Given the description of an element on the screen output the (x, y) to click on. 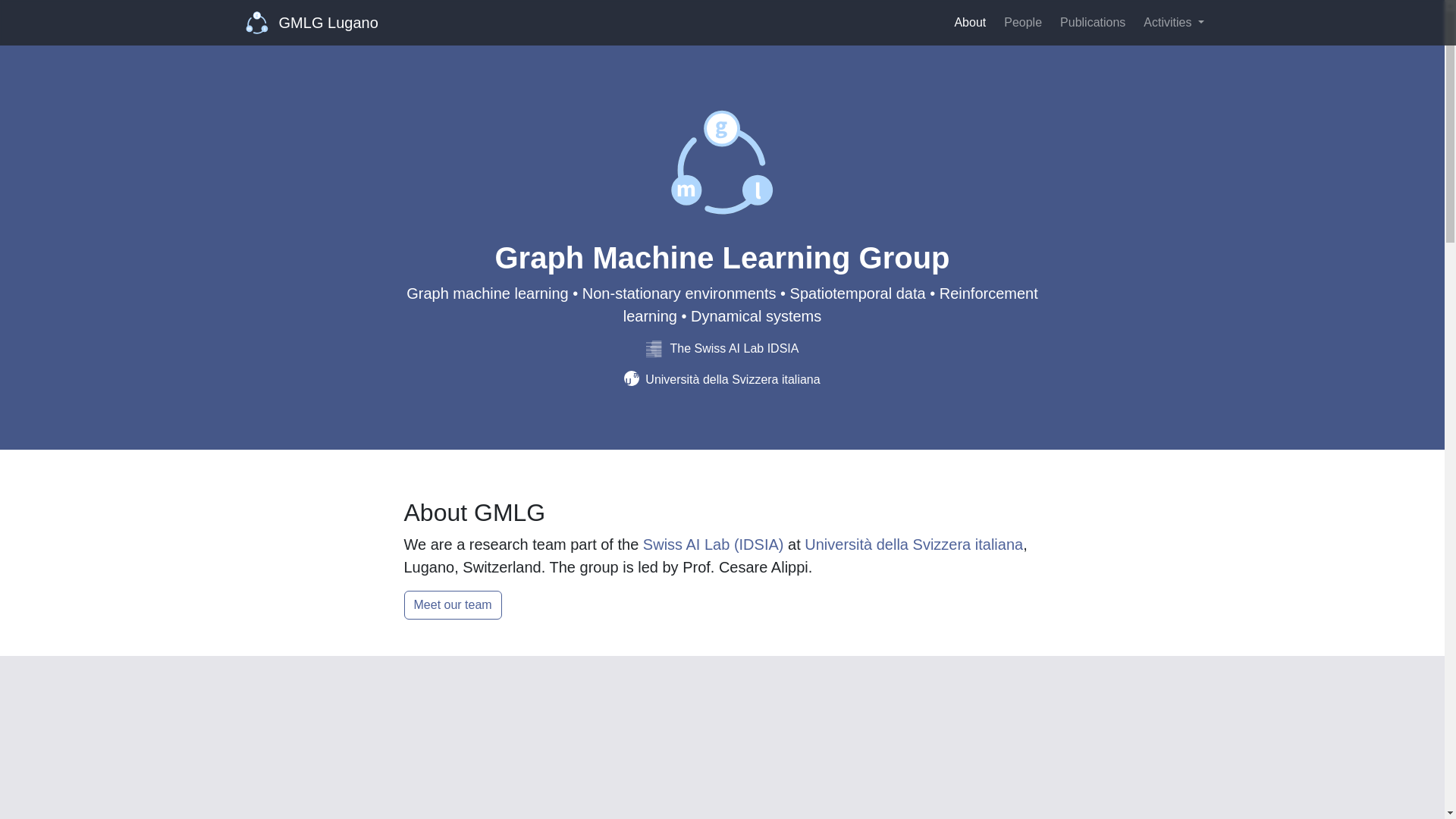
Meet our team (451, 604)
People (1022, 22)
About (969, 22)
Publications (1092, 22)
The Swiss AI Lab IDSIA (722, 348)
Activities (1173, 22)
GMLG Lugano (312, 22)
